Given the description of an element on the screen output the (x, y) to click on. 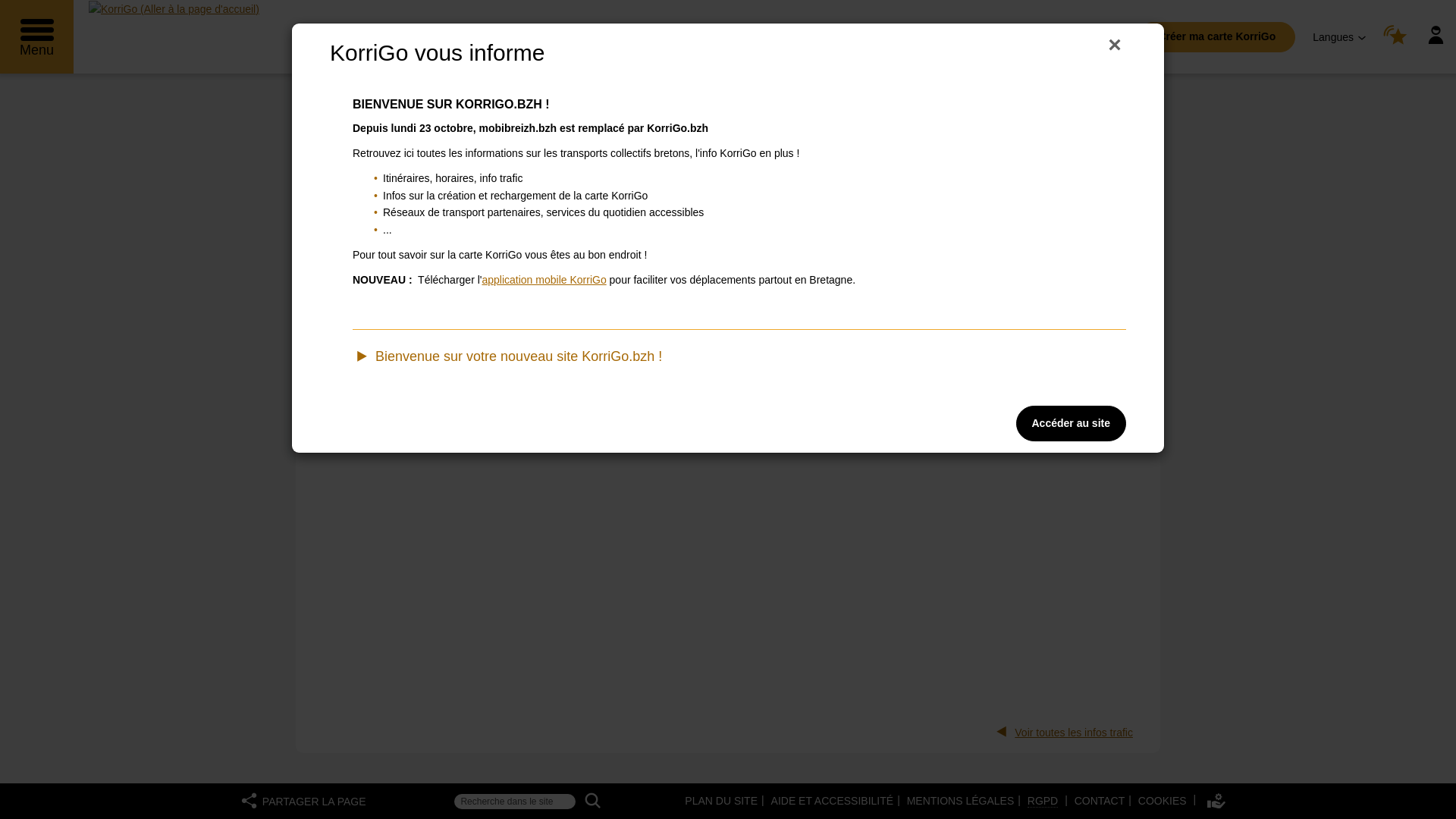
application mobile KorriGo Element type: text (543, 279)
Menu Element type: text (36, 36)
Mon Compte Element type: text (1435, 36)
Langues Element type: text (1339, 36)
Voir toutes les infos trafic Element type: text (1061, 731)
Bienvenue sur votre nouveau site KorriGo.bzh ! Element type: text (739, 360)
Facebook Element type: text (1075, 222)
Infos trafic Element type: text (561, 112)
Facebook Element type: hover (1075, 221)
PLAN DU SITE Element type: text (720, 800)
RGPD Element type: text (1043, 800)
Twitter Element type: text (1108, 222)
Accueil Element type: text (399, 112)
Lancer la recherche Element type: text (592, 800)
Twitter Element type: hover (1107, 221)
CONTACT Element type: text (1099, 800)
